Given the description of an element on the screen output the (x, y) to click on. 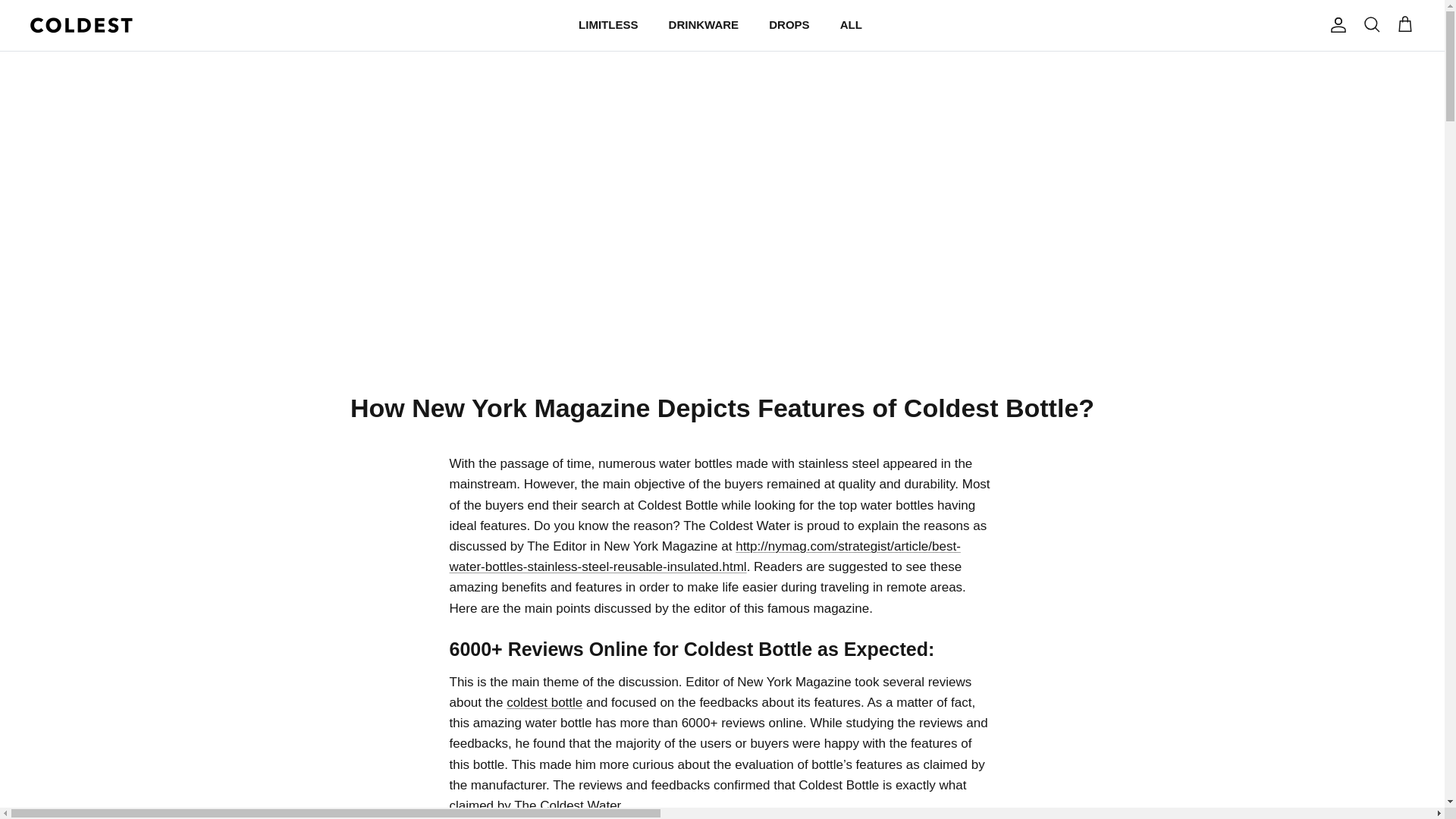
DROPS (788, 25)
ALL (851, 25)
Search (1371, 25)
LIMITLESS (607, 25)
Cart (1404, 25)
Account (1335, 24)
Coldest (81, 25)
DRINKWARE (703, 25)
